Given the description of an element on the screen output the (x, y) to click on. 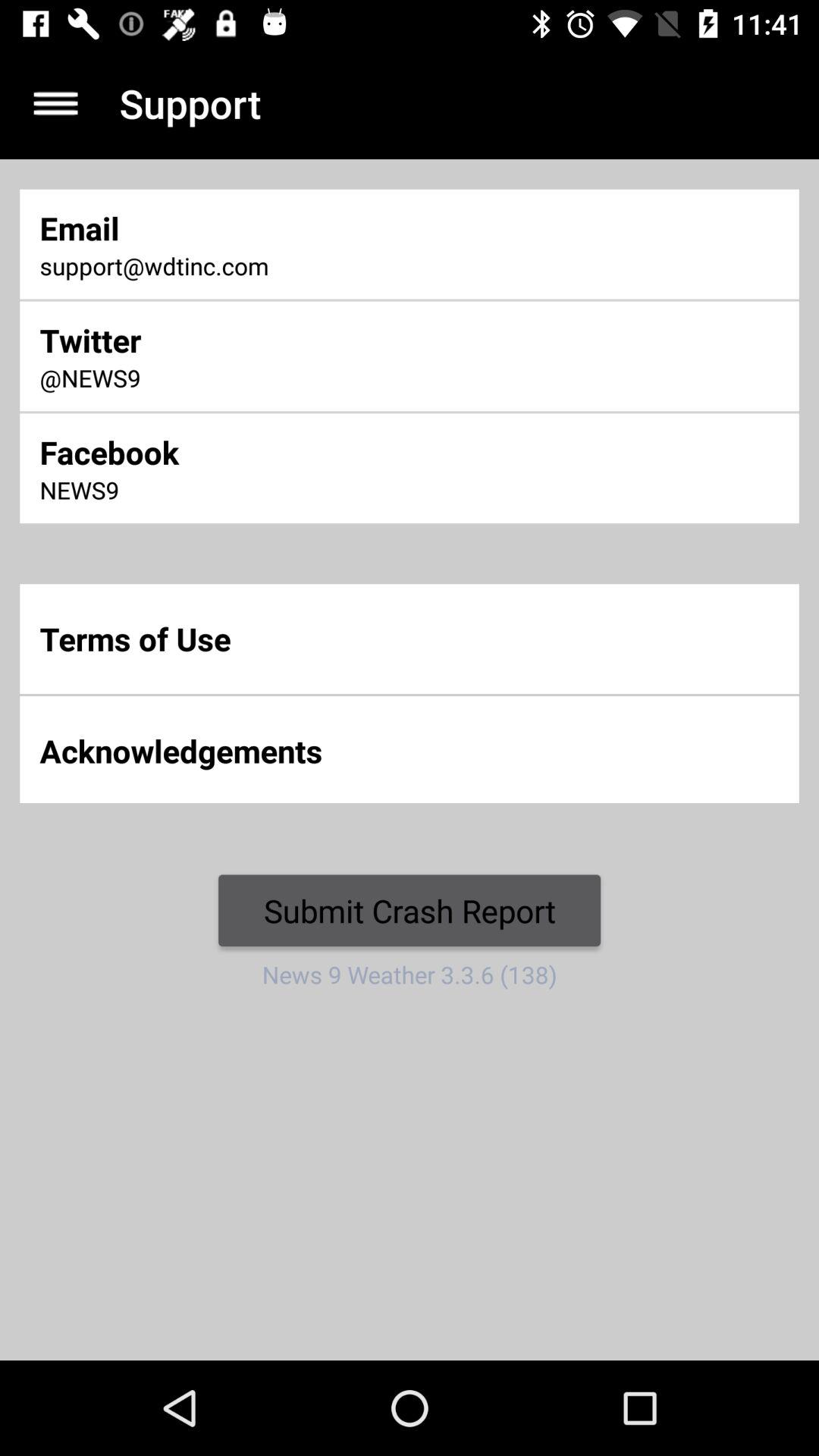
turn on the submit crash report item (409, 910)
